Given the description of an element on the screen output the (x, y) to click on. 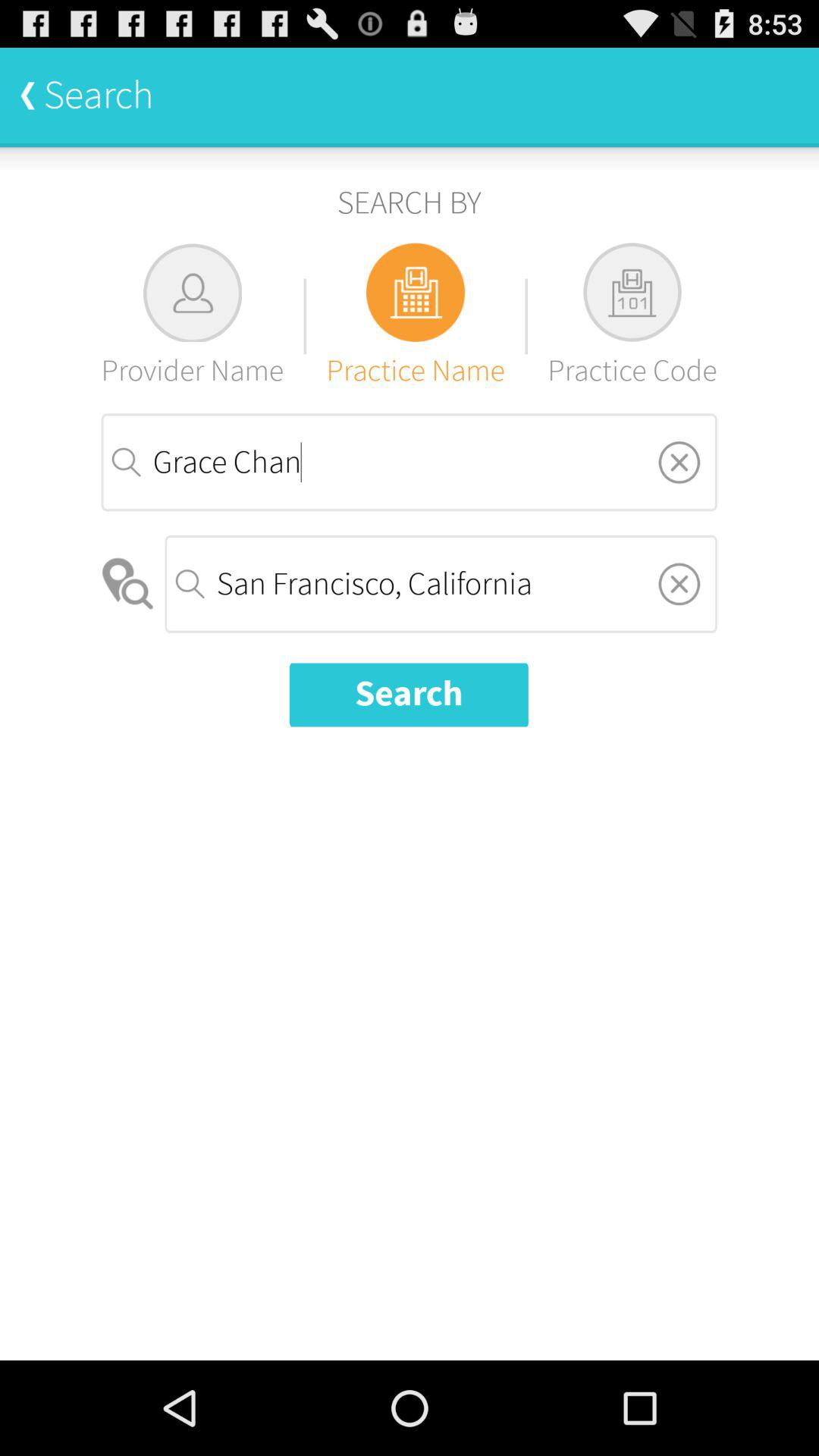
flip until the practice code icon (632, 315)
